Given the description of an element on the screen output the (x, y) to click on. 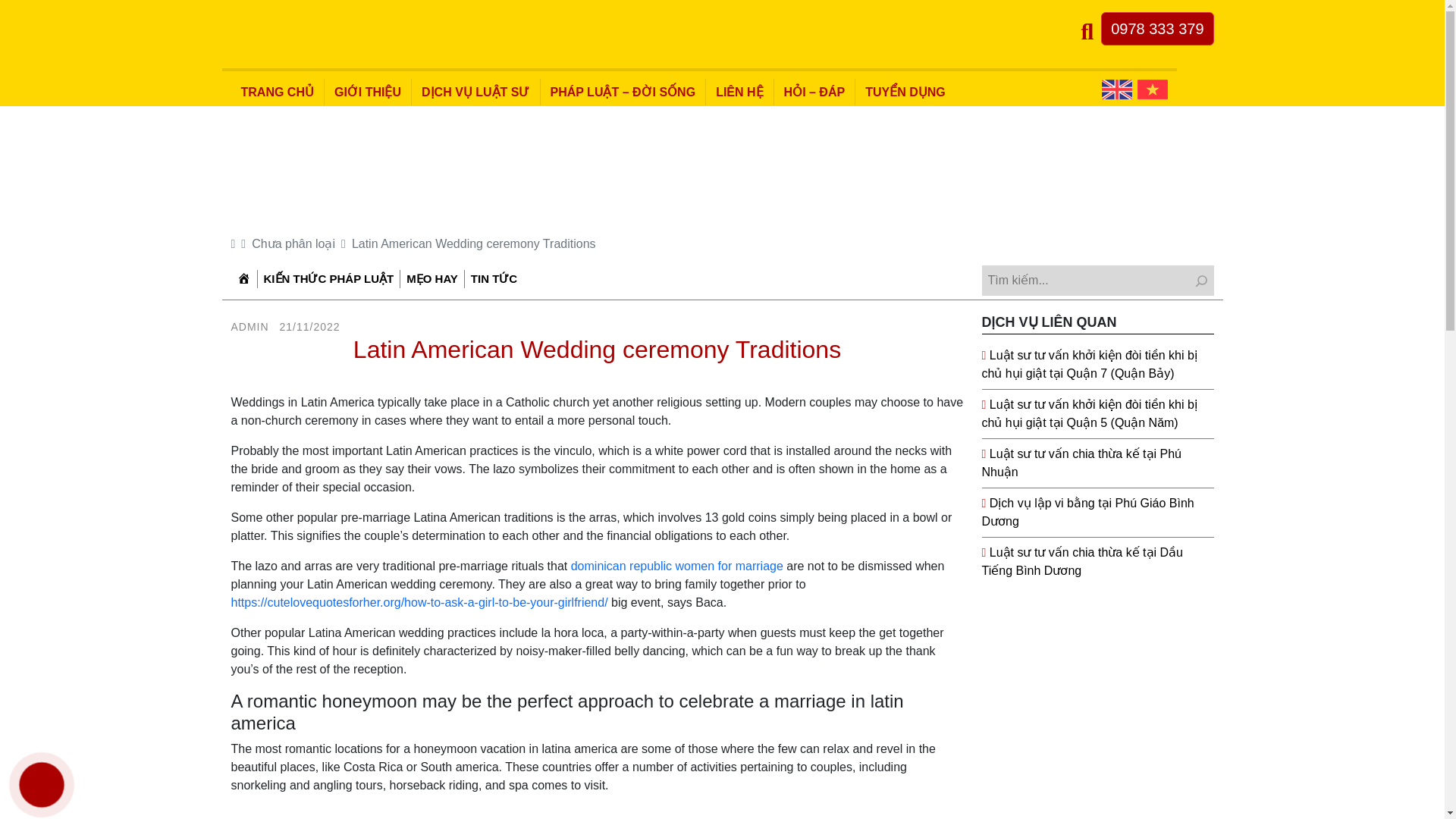
Vietnamese (1152, 89)
dominican republic women for marriage (676, 565)
2022-11-21 (306, 326)
0978 333 379 (1156, 28)
English (1117, 89)
